Given the description of an element on the screen output the (x, y) to click on. 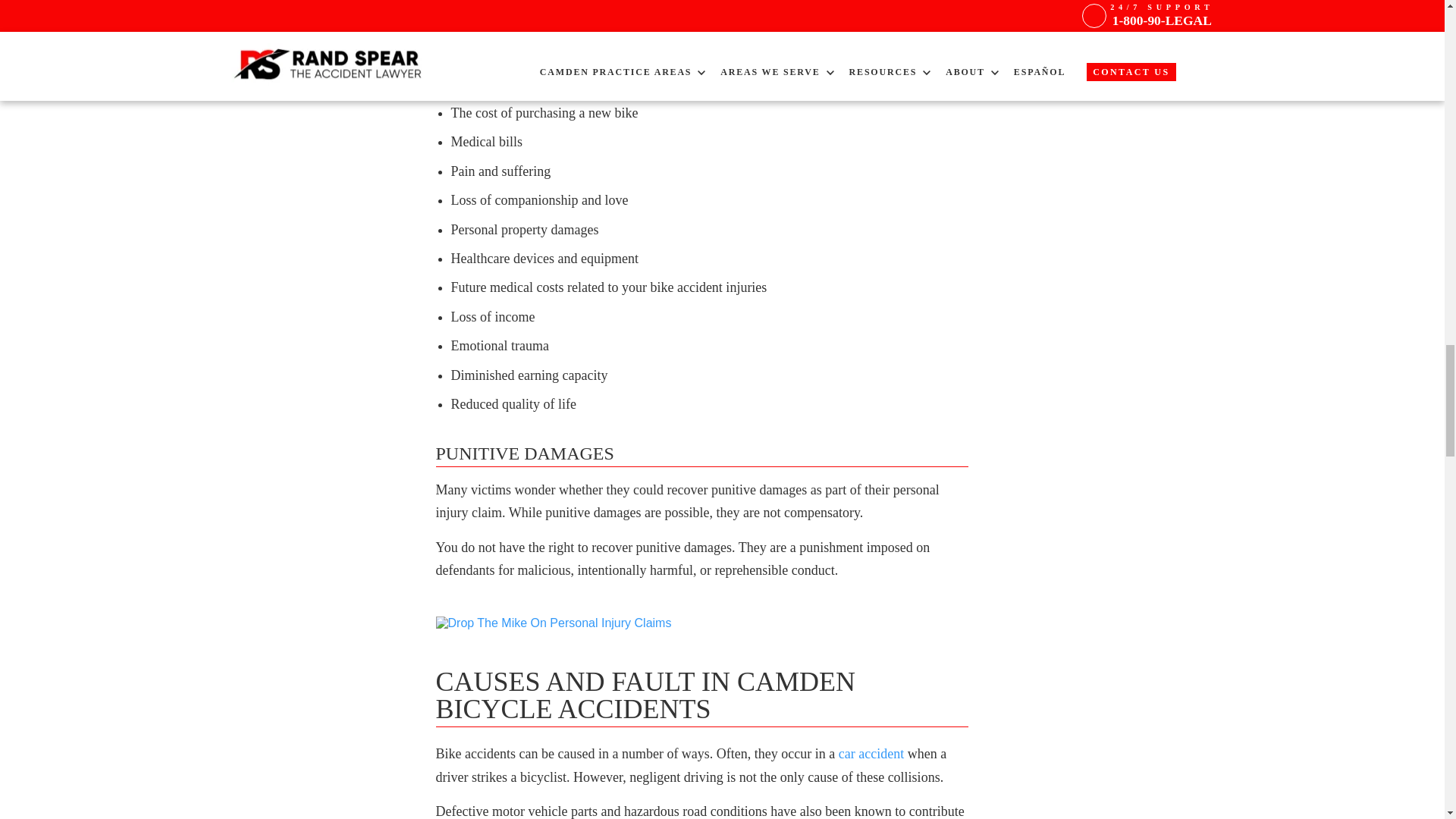
Drop The Mike On Personal Injury Claims (553, 622)
